Given the description of an element on the screen output the (x, y) to click on. 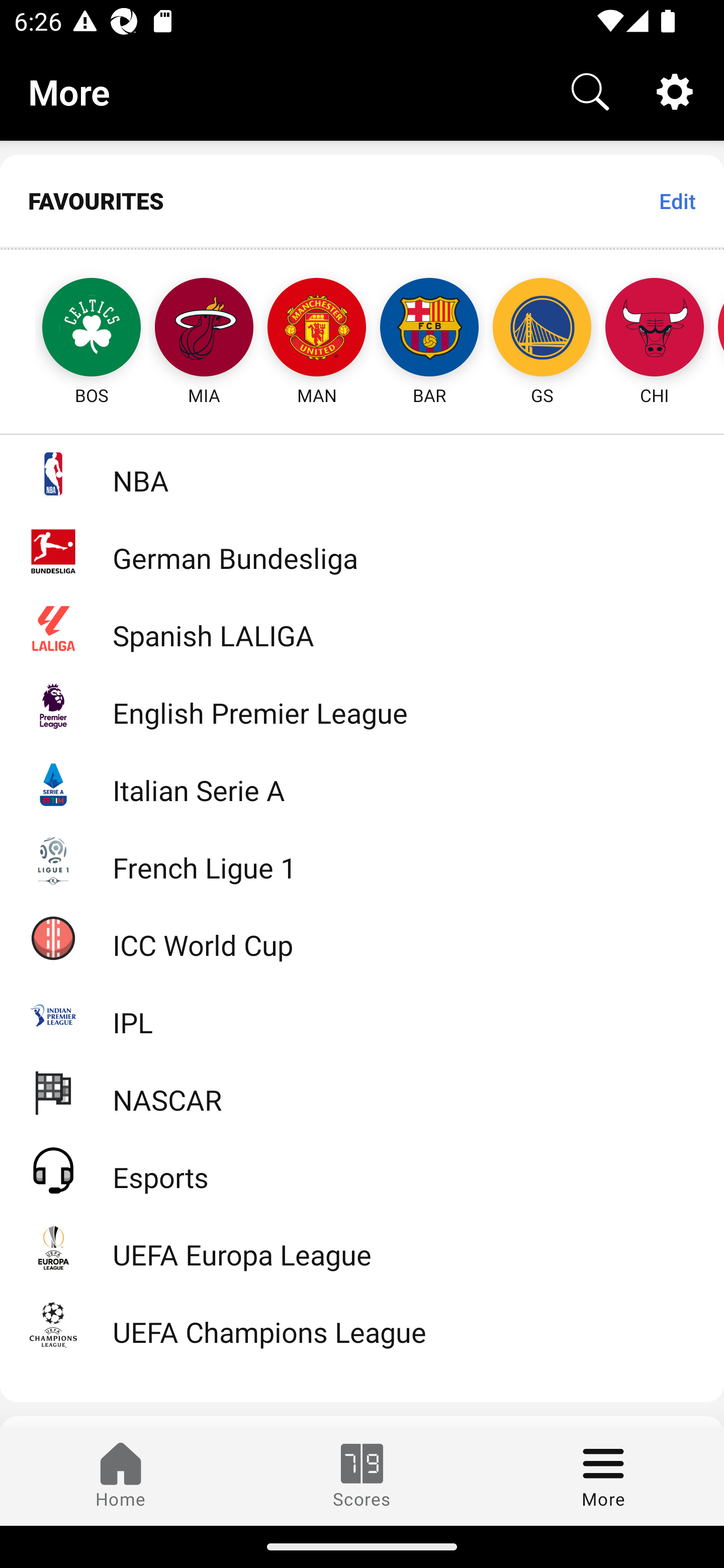
Search (590, 90)
Settings (674, 90)
Edit (676, 200)
BOS Boston Celtics (73, 328)
MIA Miami Heat (203, 328)
MAN Manchester United (316, 328)
BAR Barcelona (428, 328)
GS Golden State Warriors (541, 328)
CHI Chicago Bulls (654, 328)
NBA (362, 473)
German Bundesliga (362, 550)
Spanish LALIGA (362, 627)
English Premier League (362, 705)
Italian Serie A (362, 782)
French Ligue 1 (362, 859)
ICC World Cup (362, 937)
IPL (362, 1014)
NASCAR (362, 1091)
Esports (362, 1169)
UEFA Europa League (362, 1246)
UEFA Champions League (362, 1324)
Home (120, 1475)
Scores (361, 1475)
